Given the description of an element on the screen output the (x, y) to click on. 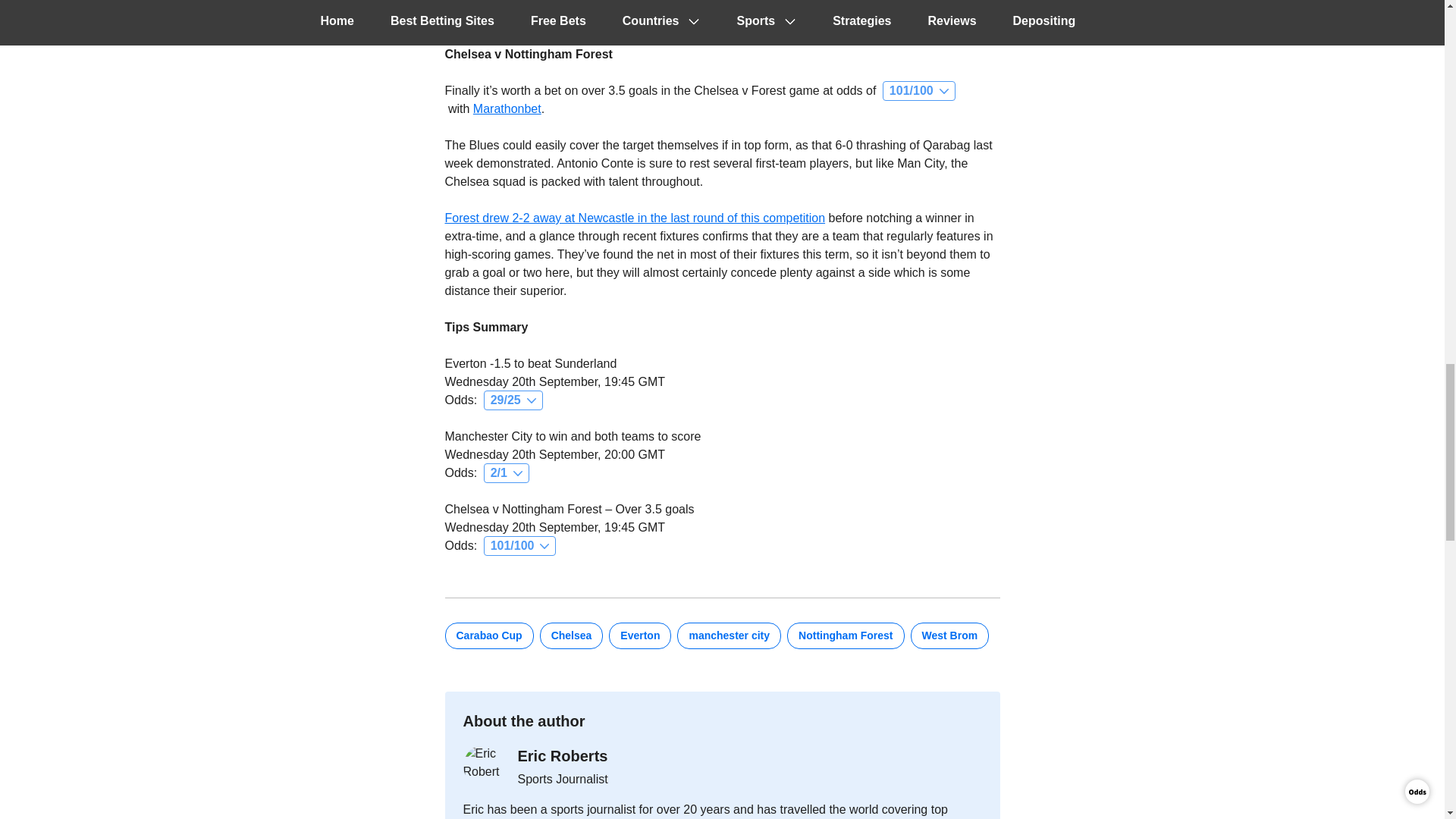
Marathonbet (507, 108)
